Given the description of an element on the screen output the (x, y) to click on. 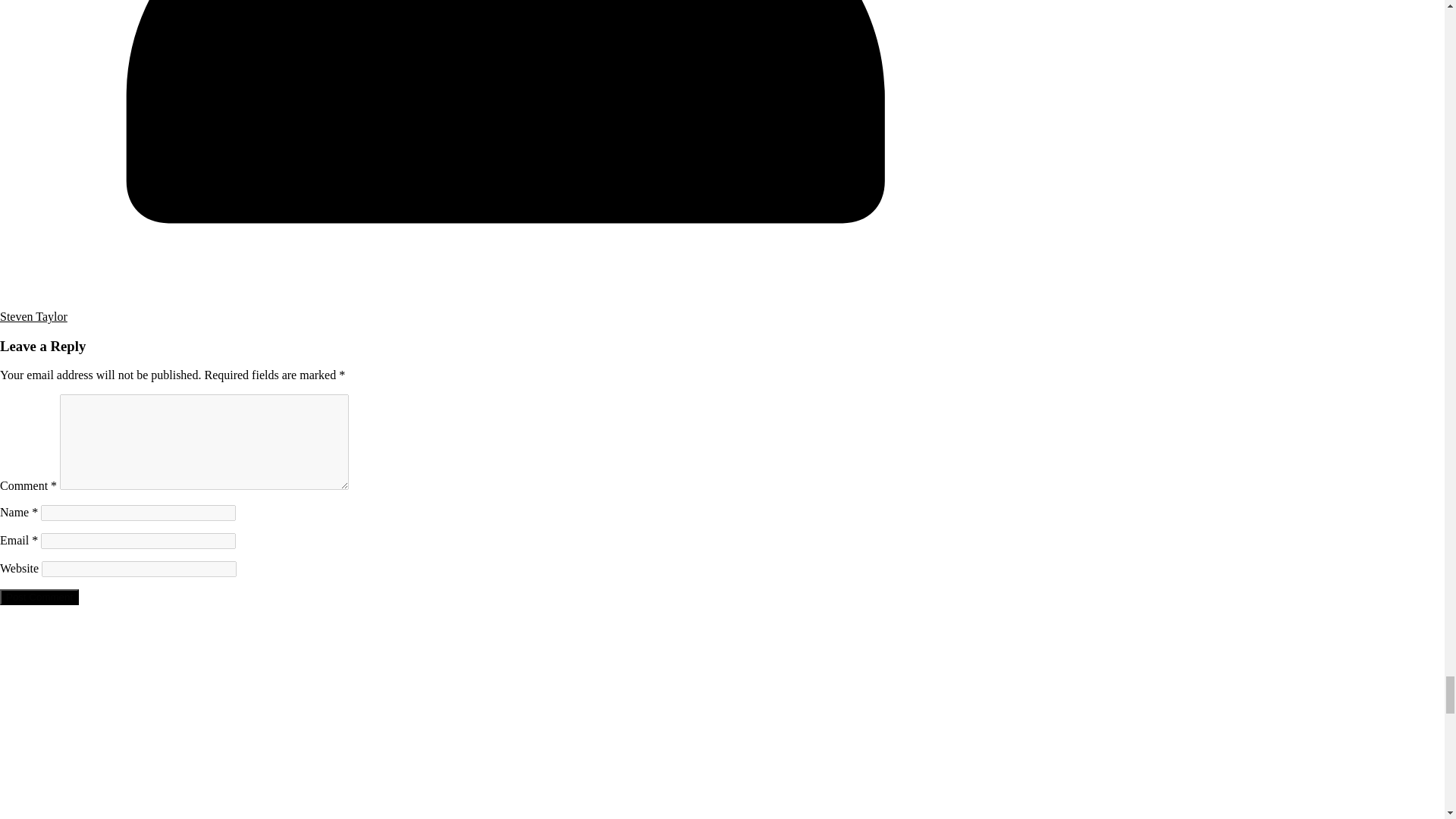
Post Comment (39, 596)
